Given the description of an element on the screen output the (x, y) to click on. 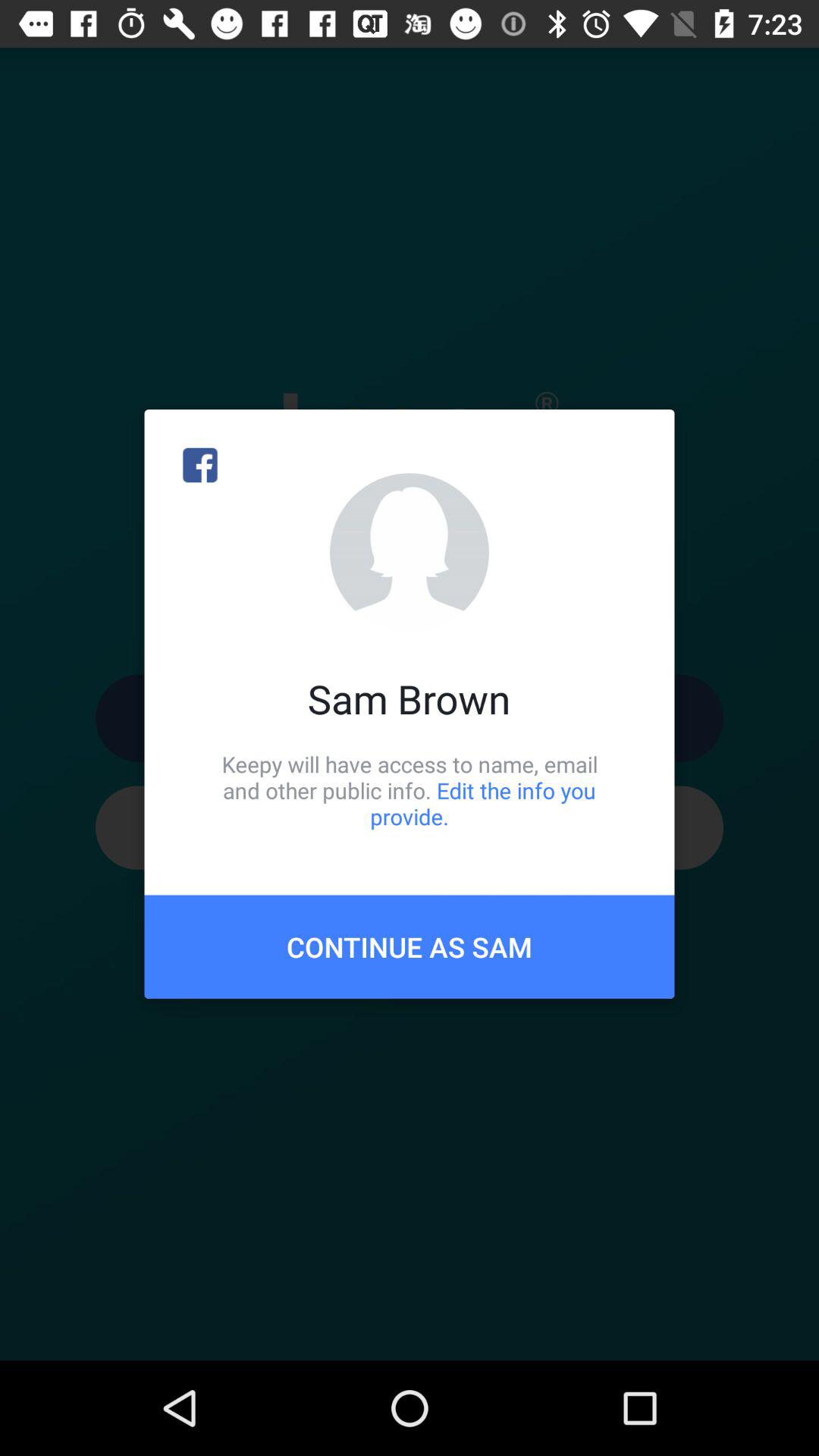
jump to continue as sam item (409, 946)
